Given the description of an element on the screen output the (x, y) to click on. 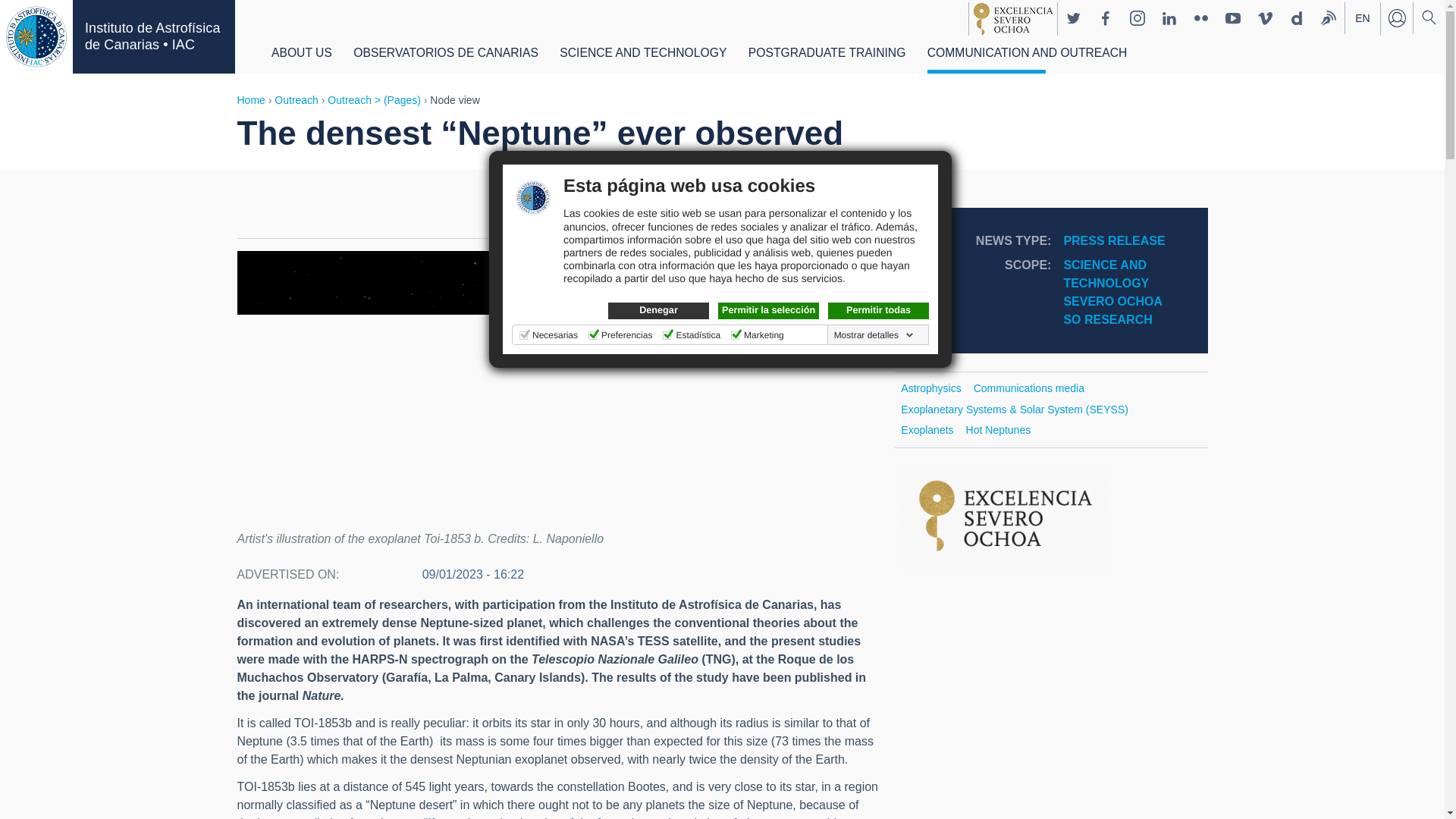
Denegar (658, 310)
Permitir todas (878, 310)
Mostrar detalles (874, 335)
